Given the description of an element on the screen output the (x, y) to click on. 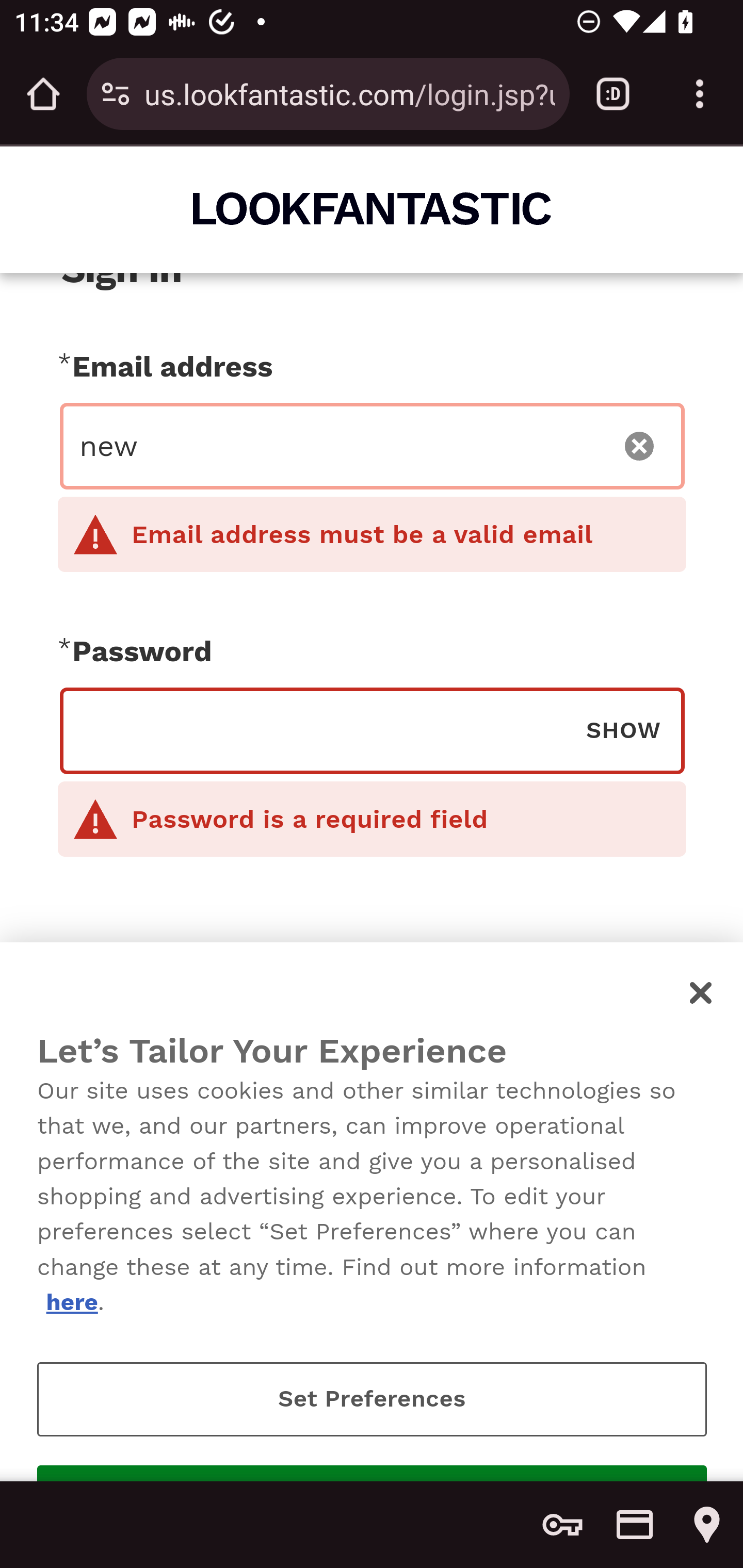
Open the home page (43, 93)
Connection is secure (115, 93)
Switch or close tabs (612, 93)
Customize and control Google Chrome (699, 93)
Lookfantastic USA Home page (372, 208)
new (339, 445)
Clear field (639, 445)
Show Password (623, 729)
Close (701, 992)
Sign in to your account (371, 1070)
here (71, 1302)
Set Preferences (372, 1399)
Show saved passwords and password options (562, 1524)
Show saved payment methods (634, 1524)
Show saved addresses (706, 1524)
